Given the description of an element on the screen output the (x, y) to click on. 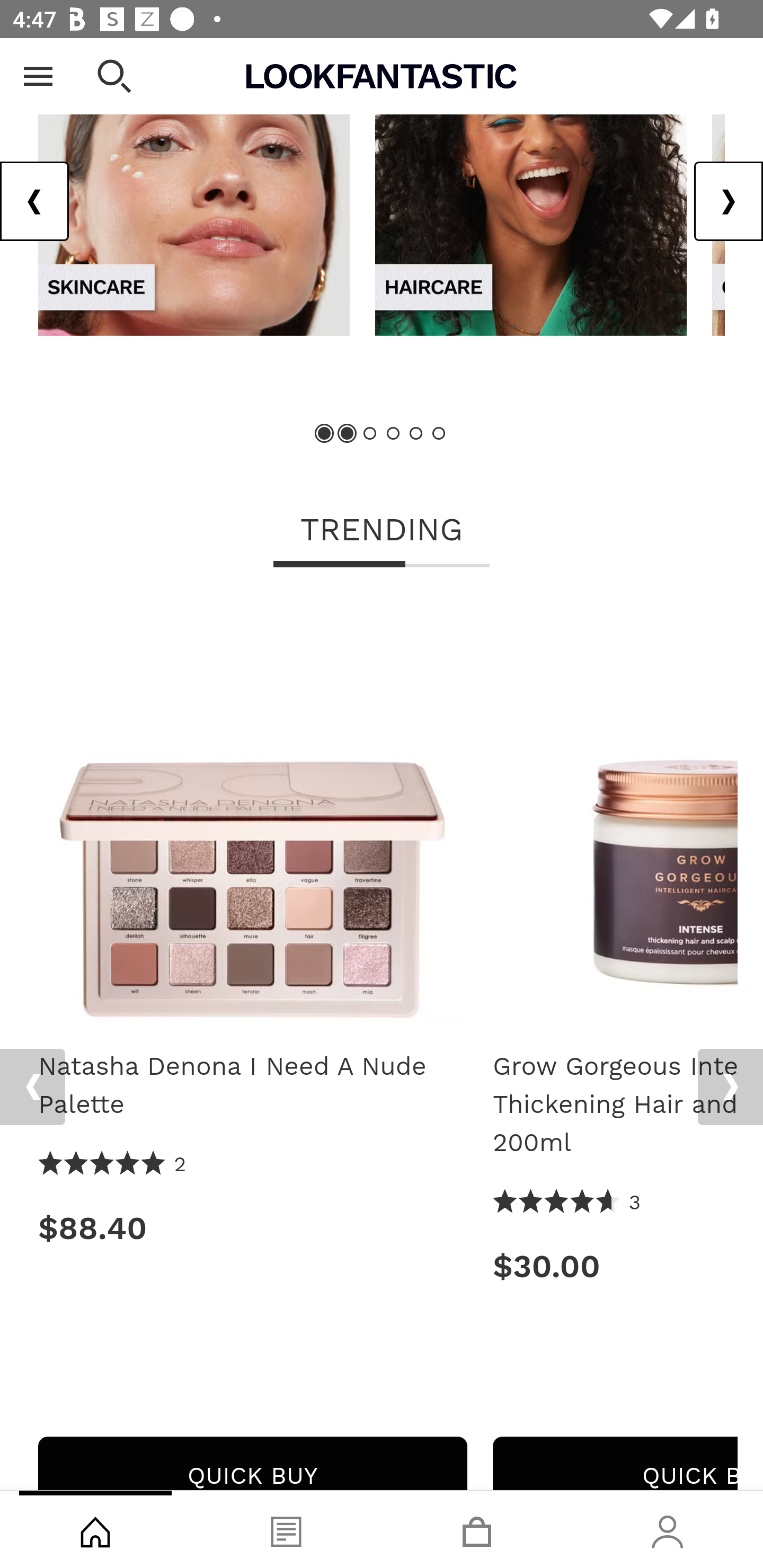
view-all (193, 208)
view-all (530, 208)
Previous (35, 202)
Next (727, 202)
Showing Slide 1 (Current Item) (324, 435)
Showing Slide 2 (Current Item) (347, 435)
Slide 3 (369, 435)
Slide 4 (393, 435)
Slide 5 (415, 435)
Slide 6 (437, 435)
TRENDING (381, 532)
Natasha Denona I Need A Nude Palette (252, 814)
Natasha Denona I Need A Nude Palette (252, 1086)
Previous (32, 1087)
Next (730, 1087)
5.0 Stars 2 Reviews (112, 1165)
4.67 Stars 3 Reviews (567, 1202)
Price: $88.40 (252, 1228)
Price: $30.00 (614, 1267)
QUICK BUY NATASHA DENONA I NEED A NUDE PALETTE (252, 1463)
Shop, tab, 1 of 4 (95, 1529)
Blog, tab, 2 of 4 (285, 1529)
Basket, tab, 3 of 4 (476, 1529)
Account, tab, 4 of 4 (667, 1529)
